Given the description of an element on the screen output the (x, y) to click on. 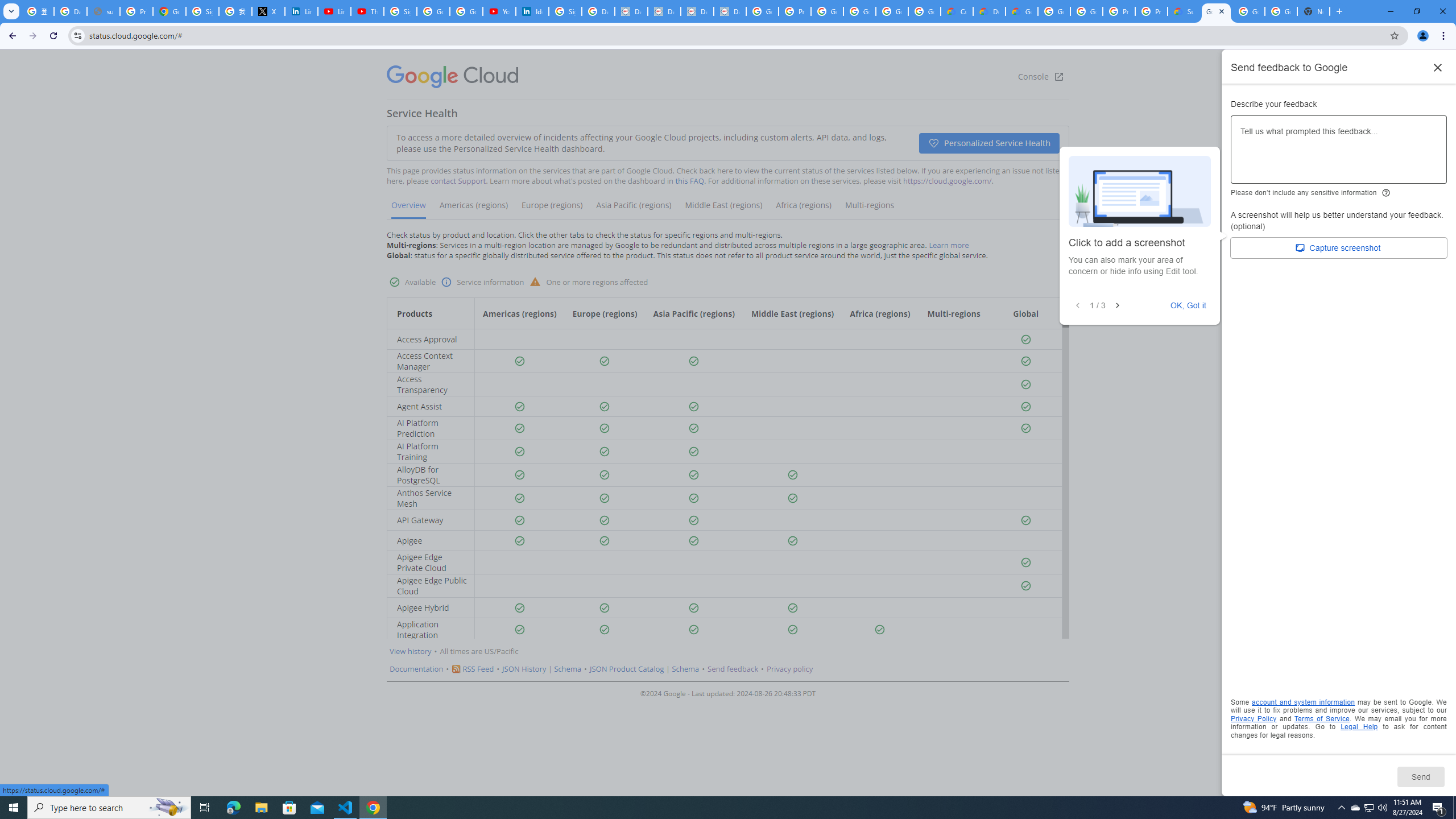
Data Privacy Framework (631, 11)
contact Support (458, 181)
Learn more (948, 244)
Overview (408, 209)
Multi-regions (868, 209)
Google Cloud Platform (1086, 11)
Google Cloud Service Health (1216, 11)
Informational status (446, 281)
